Given the description of an element on the screen output the (x, y) to click on. 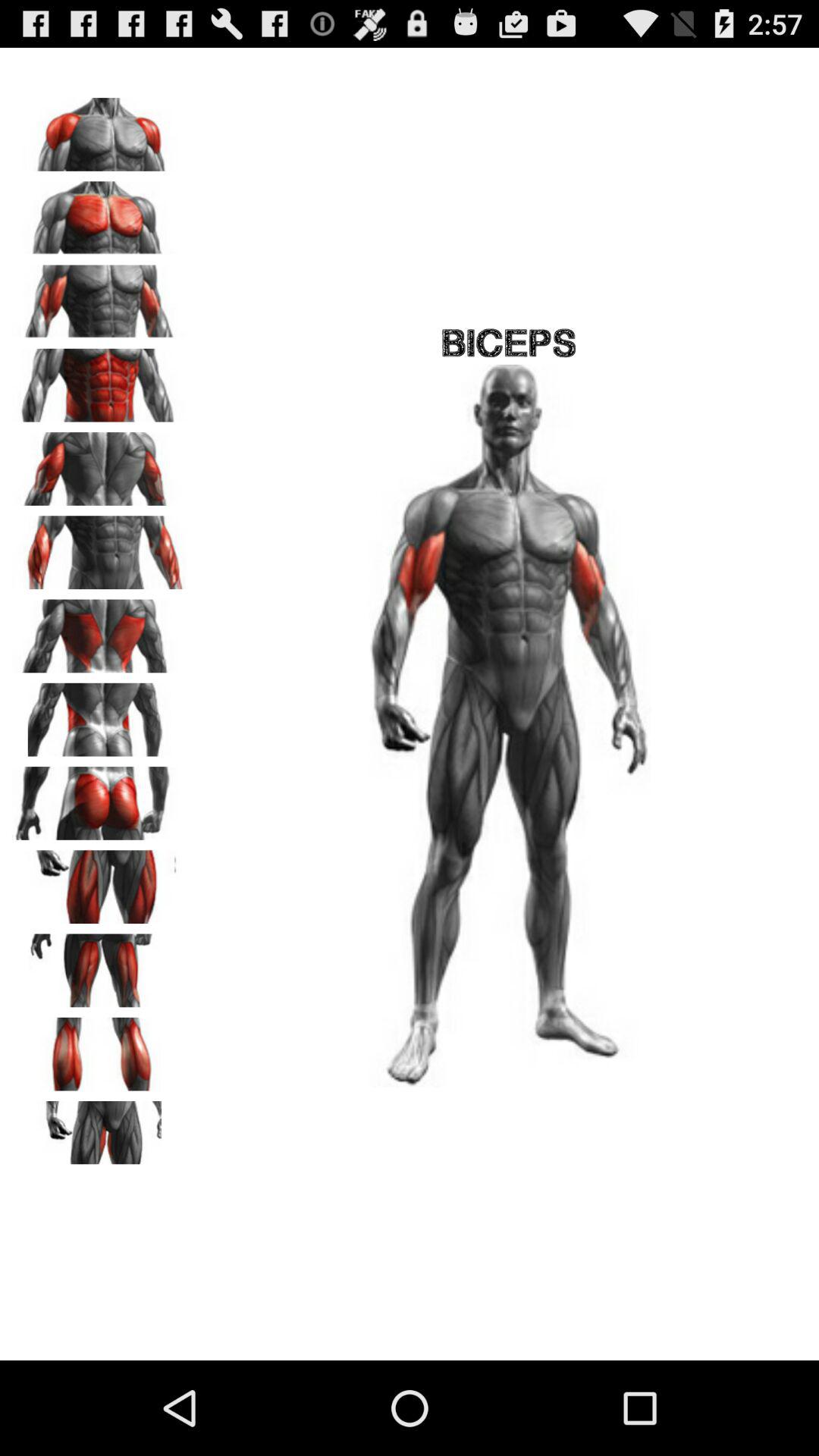
go to selection (99, 129)
